Given the description of an element on the screen output the (x, y) to click on. 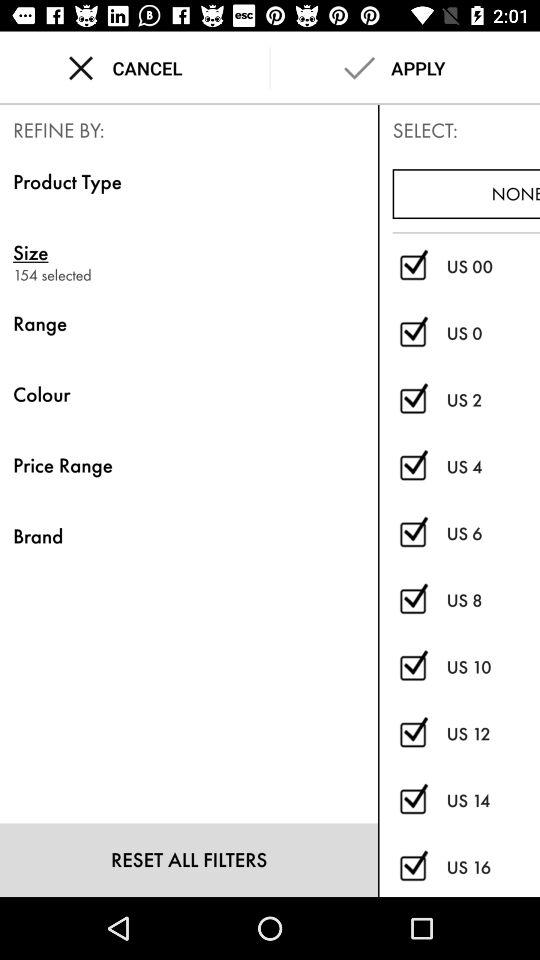
check out (412, 467)
